Given the description of an element on the screen output the (x, y) to click on. 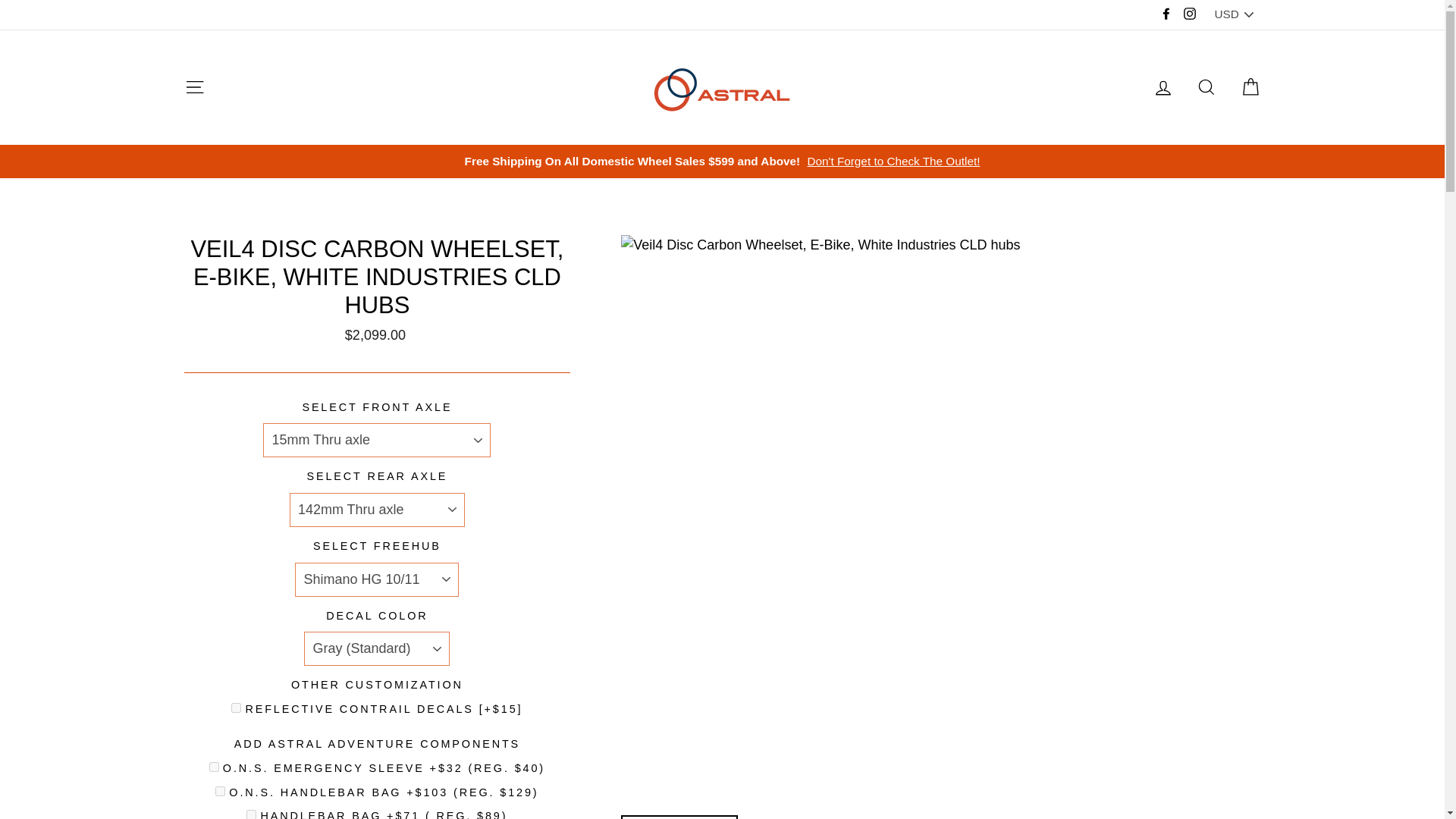
Astral Cycling on Instagram (1189, 14)
Astral Cycling on Facebook (1166, 14)
